Given the description of an element on the screen output the (x, y) to click on. 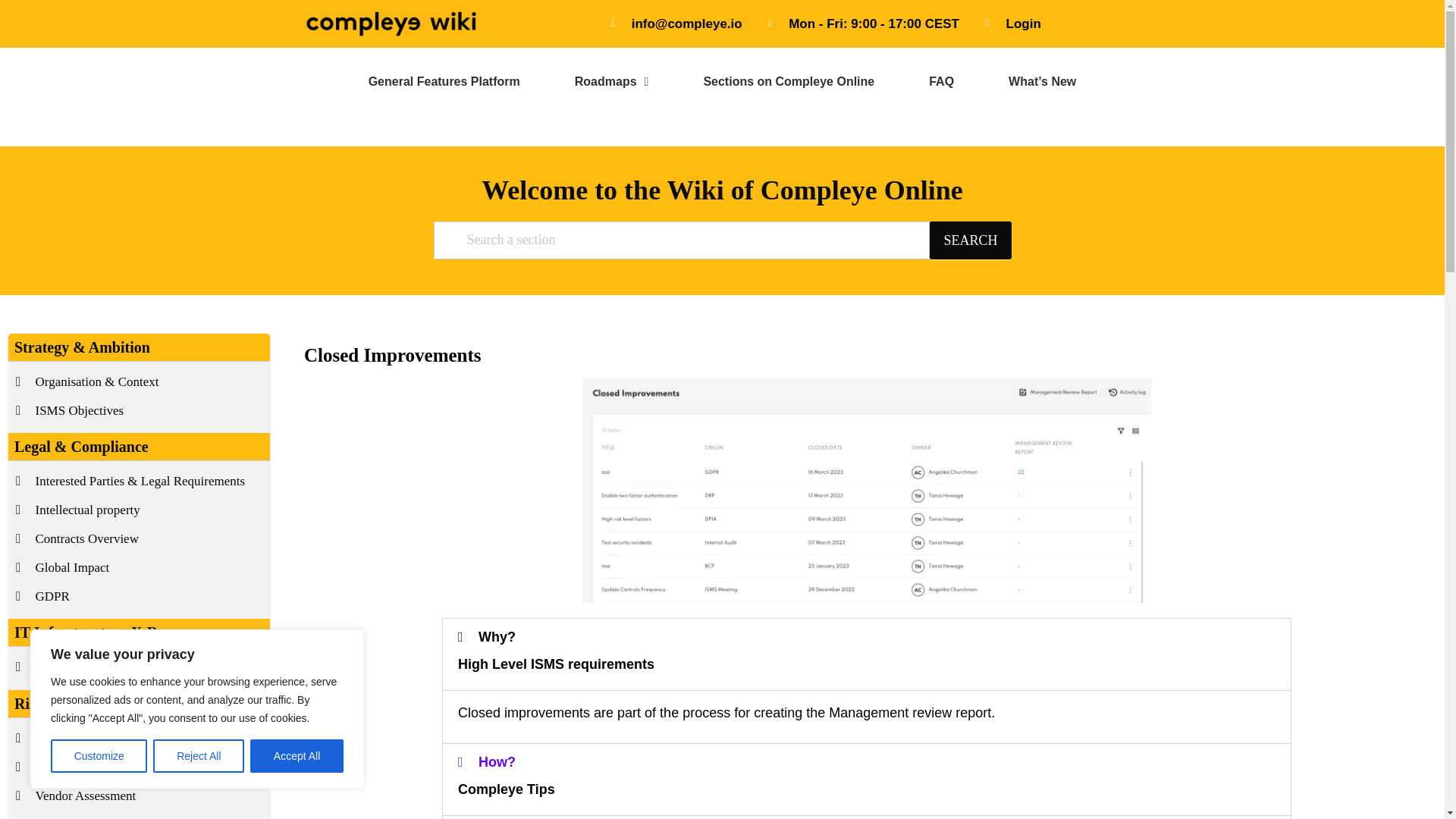
SEARCH (970, 240)
ISMS Objectives (141, 410)
FAQ (940, 81)
Global Impact (141, 567)
Customize (98, 756)
Login (1010, 24)
GDPR (141, 596)
Suppliers Overview (141, 738)
Accept All (296, 756)
IT Infrastructure X-Ray (141, 667)
